Given the description of an element on the screen output the (x, y) to click on. 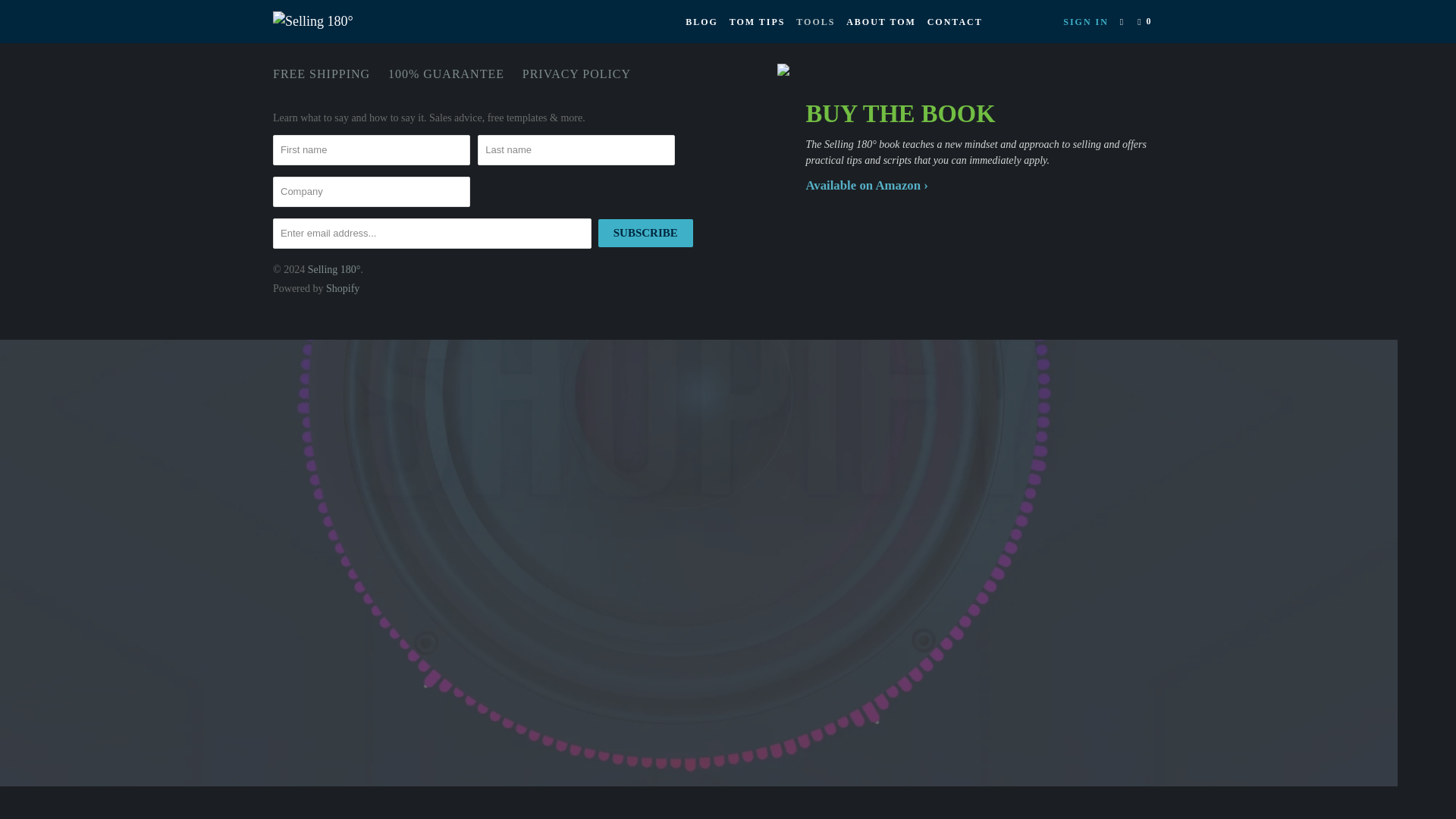
My Account  (1085, 21)
Shopify (342, 288)
CONTACT (954, 21)
ABOUT TOM (880, 21)
TOOLS (815, 21)
SIGN IN (1085, 21)
FREE SHIPPING (321, 73)
Subscribe (645, 233)
PRIVACY POLICY (576, 73)
BLOG (701, 21)
Subscribe (645, 233)
TOM TIPS (757, 21)
0 (1145, 21)
